Given the description of an element on the screen output the (x, y) to click on. 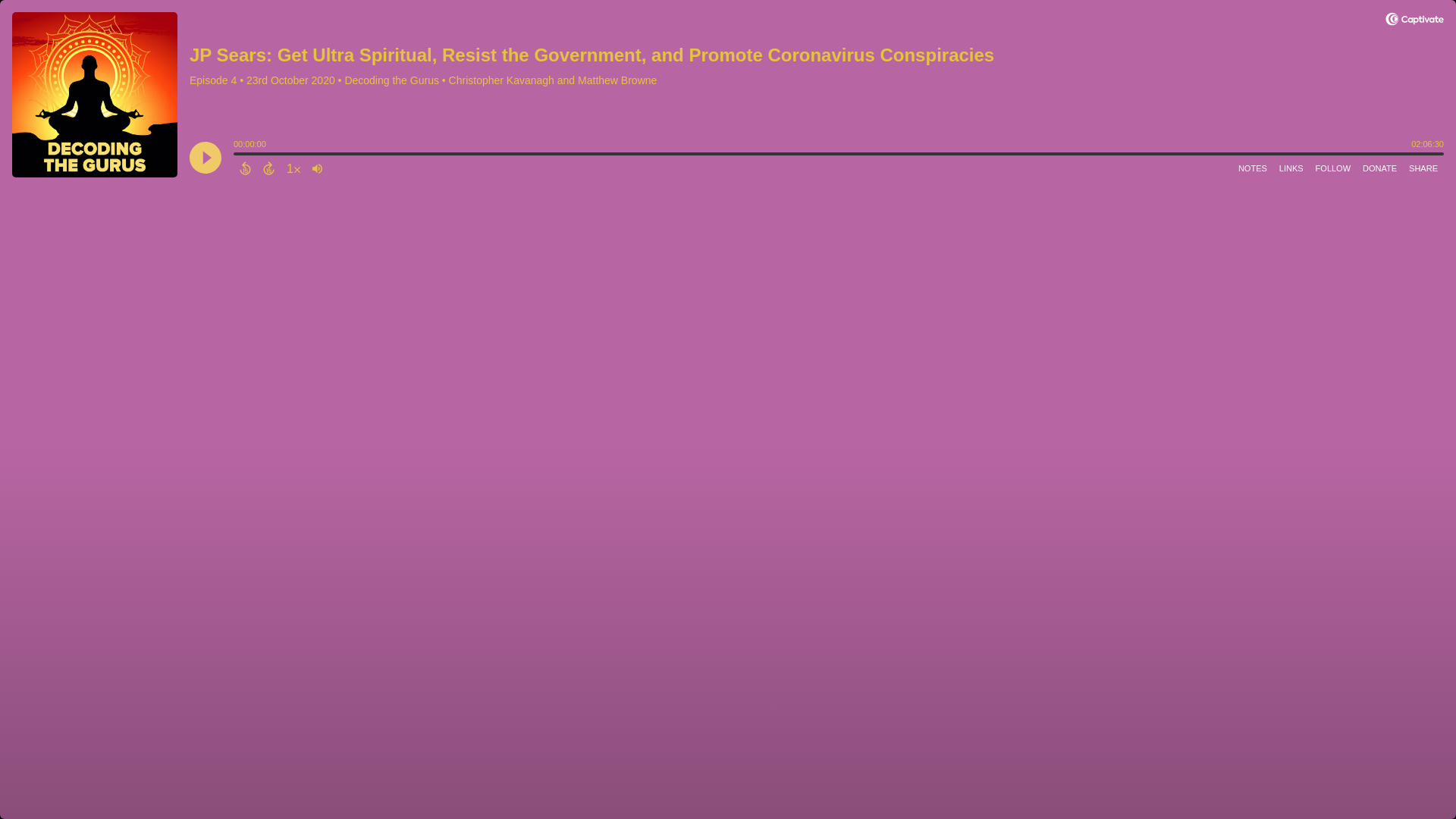
FOLLOW (1332, 167)
SHARE (1423, 167)
NOTES (1251, 167)
1 (293, 167)
DONATE (1379, 167)
LINKS (1290, 167)
